Given the description of an element on the screen output the (x, y) to click on. 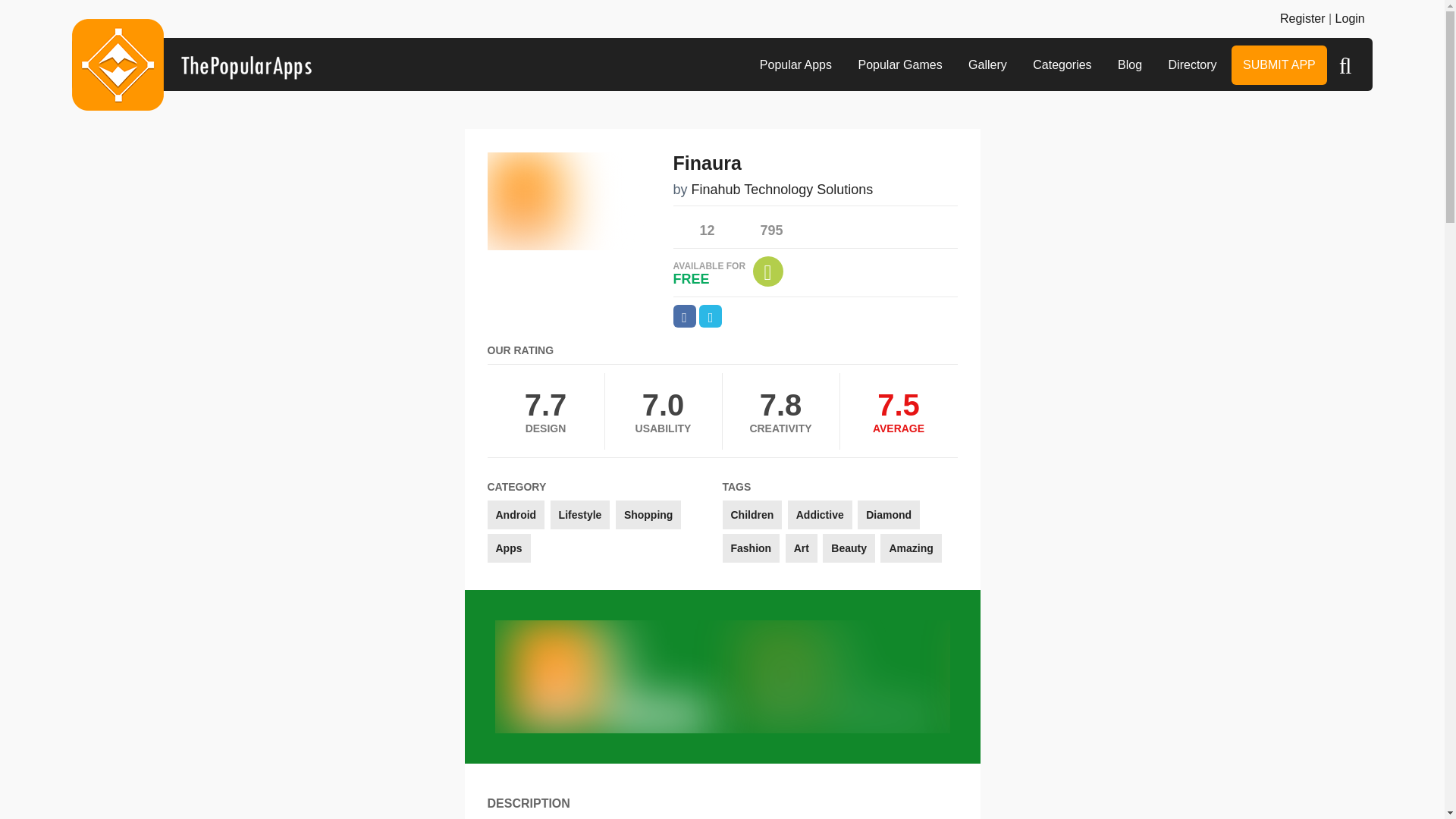
Directory (1192, 65)
Fashion (750, 547)
Register (1301, 18)
Beauty (848, 547)
Diamond (888, 514)
Art (801, 547)
Gallery (986, 65)
Categories (1062, 65)
Shopping (648, 514)
Blog (1129, 65)
Amazing (910, 547)
12 (693, 226)
Popular Apps (795, 65)
Login (1350, 18)
The Popular Apps (191, 64)
